Given the description of an element on the screen output the (x, y) to click on. 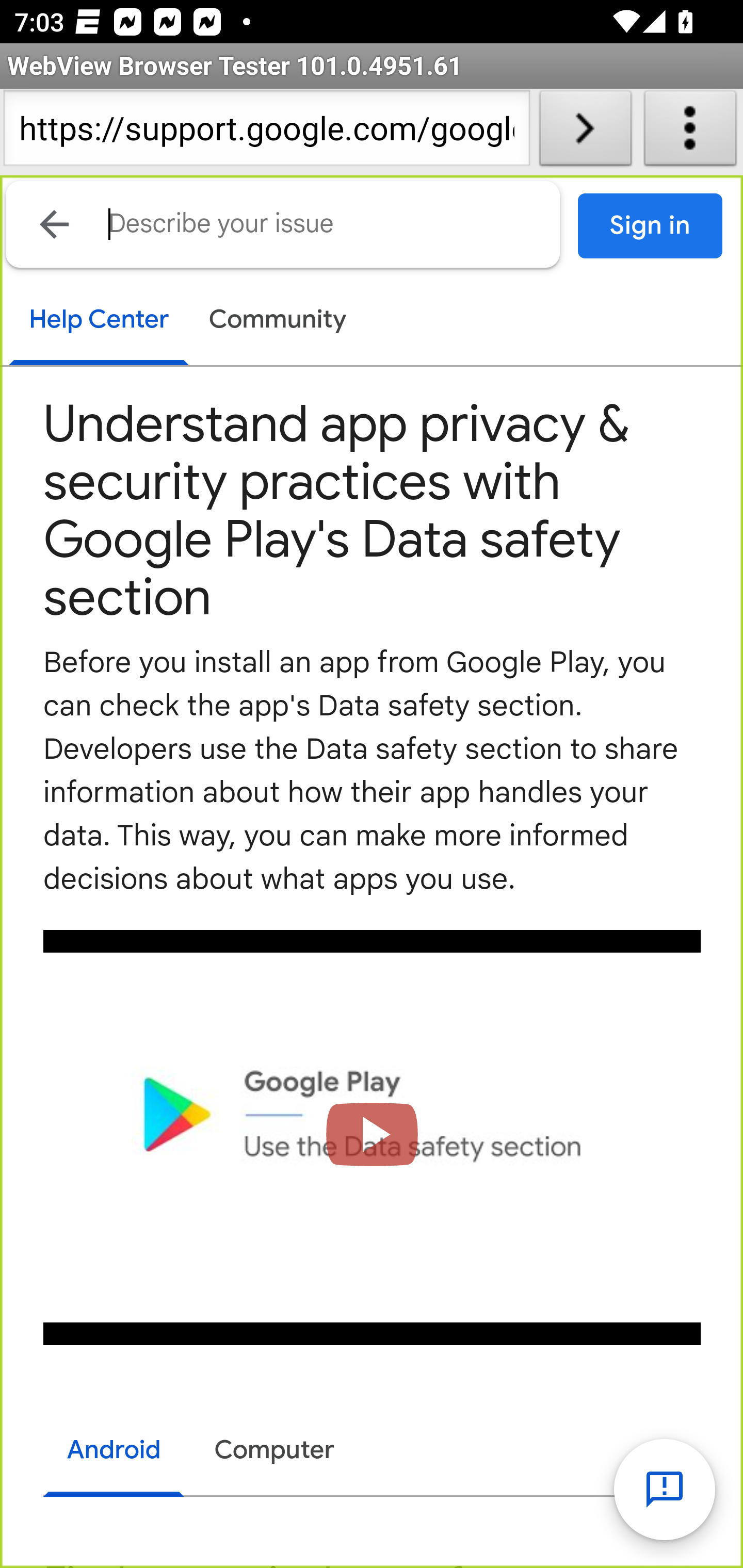
Load URL (585, 132)
About WebView (690, 132)
Close search (54, 223)
Sign in (650, 226)
Help Center (98, 320)
Community (277, 320)
Load video (372, 1137)
Load video (372, 1137)
Android (114, 1452)
Computer (273, 1450)
